Given the description of an element on the screen output the (x, y) to click on. 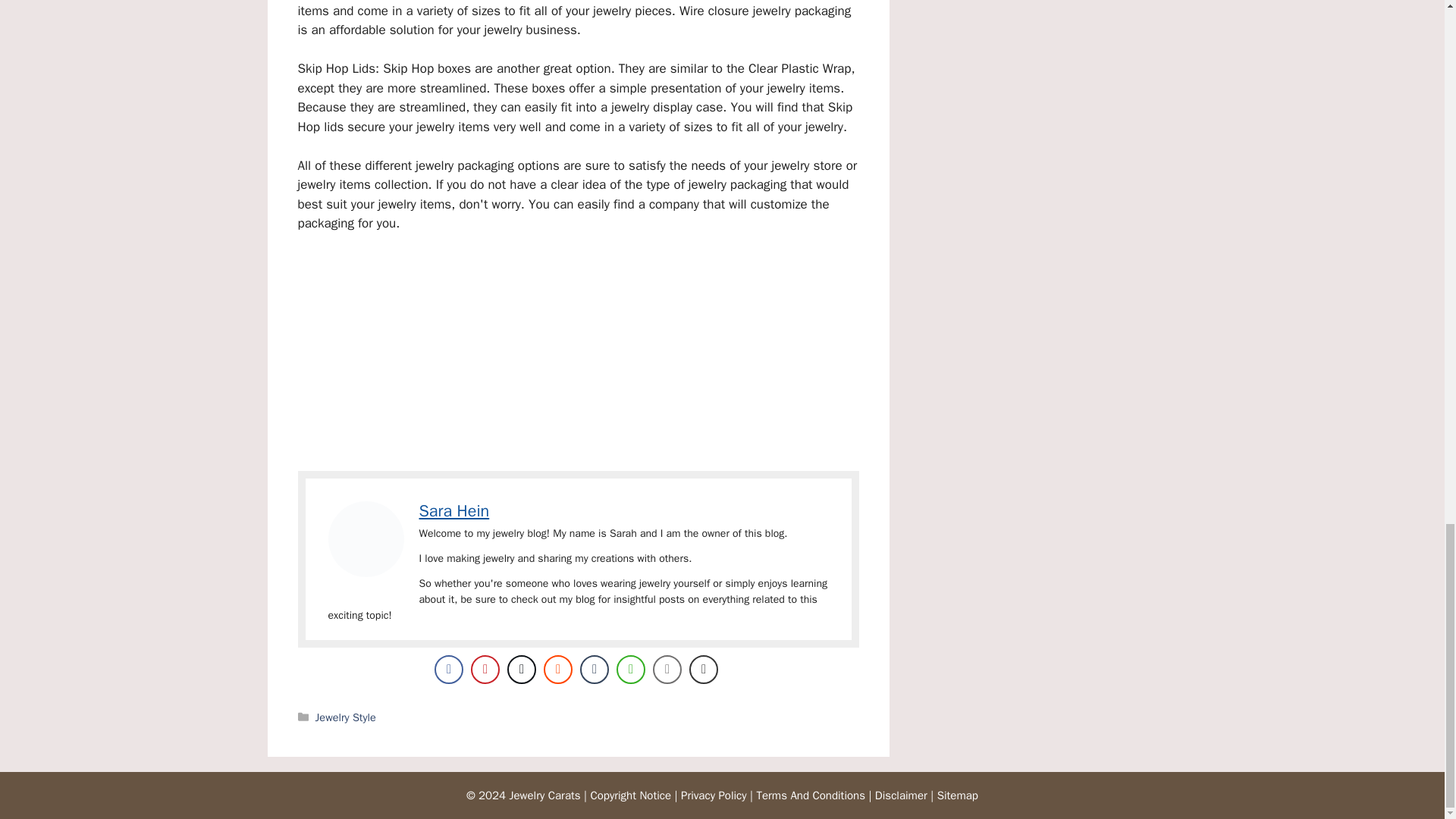
A Complete Solution For Your Jewelry 5 (365, 539)
